Given the description of an element on the screen output the (x, y) to click on. 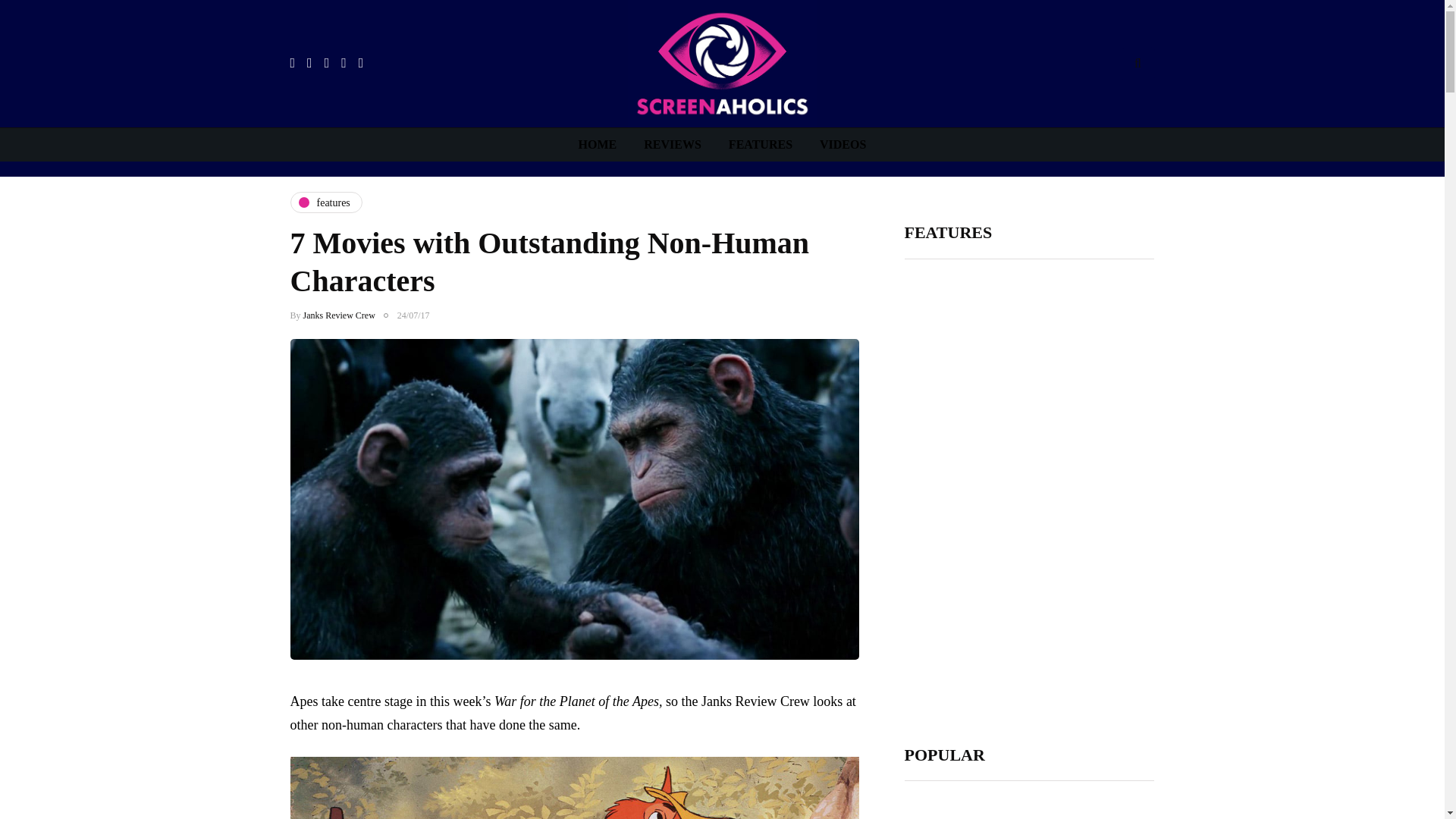
HOME (597, 144)
REVIEWS (672, 144)
features (325, 201)
Posts by Janks Review Crew (338, 315)
FEATURES (760, 144)
VIDEOS (842, 144)
Janks Review Crew (338, 315)
